Given the description of an element on the screen output the (x, y) to click on. 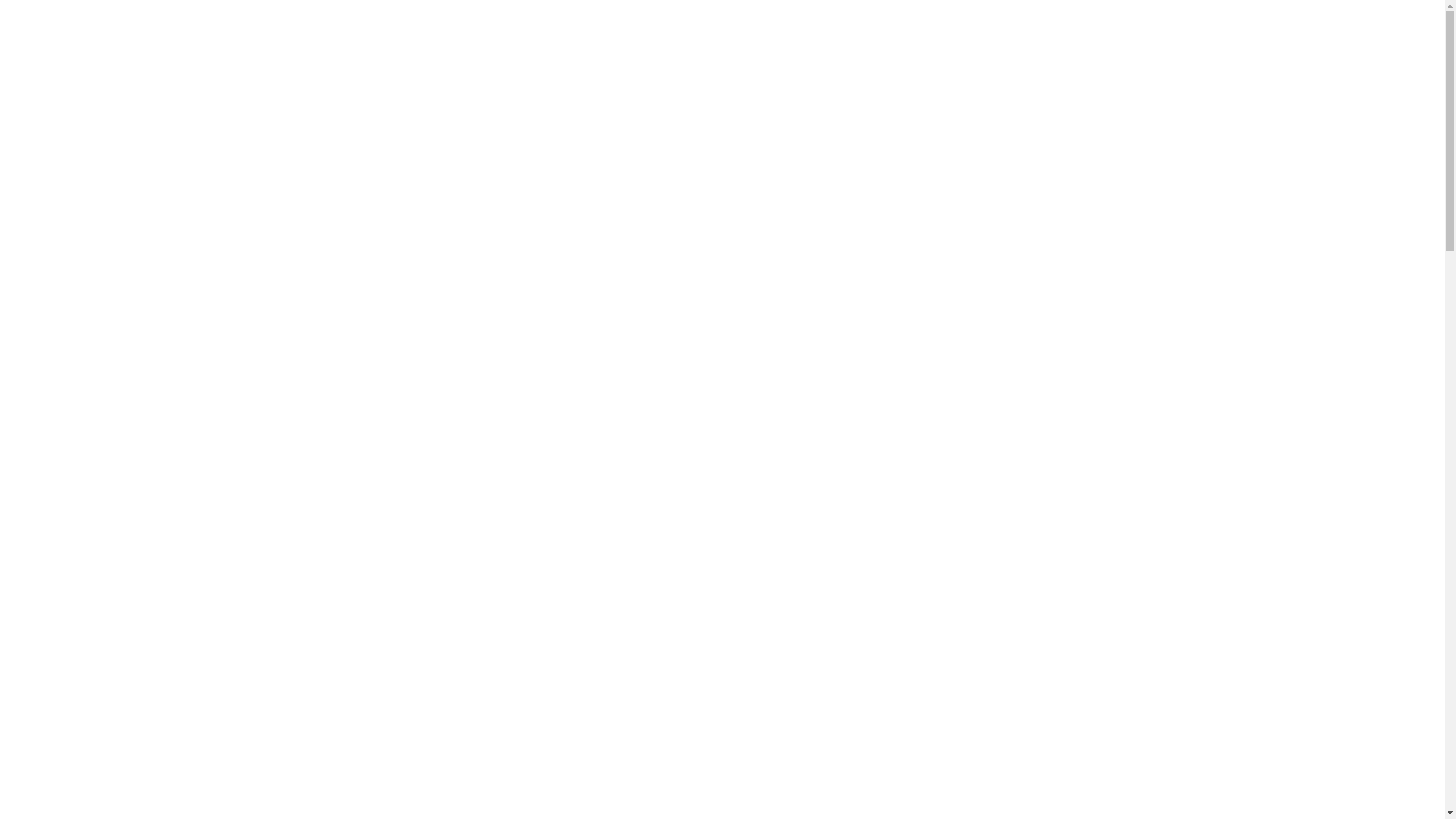
About Us Element type: text (55, 666)
Commercial Element type: text (49, 180)
Home Element type: text (31, 161)
Commercial Contracts Element type: text (94, 239)
Dispute Resolution Element type: text (70, 296)
Deceased Estate Claims Element type: text (101, 550)
Contact Us Element type: text (60, 686)
Employment Element type: text (65, 259)
Estate Planning Element type: text (74, 590)
Negligence Element type: text (61, 454)
About Element type: text (31, 647)
Employment Element type: text (65, 415)
08 9592 7326 Element type: text (53, 790)
Insolvency Element type: text (59, 434)
Power of Attorney Element type: text (80, 610)
Wills & Estates Element type: text (58, 511)
Commercial Litigation Element type: text (92, 356)
Breach of Contract Element type: text (84, 316)
Deceased Etates & Administration Element type: text (130, 570)
Partnership Disputes Element type: text (90, 474)
Defamation Element type: text (62, 395)
Contesting a Will Element type: text (78, 531)
Building & Construction Element type: text (98, 336)
Latest News Element type: text (64, 706)
Client Portal Login Element type: text (69, 743)
Debt Recovery Element type: text (72, 375)
Business Element type: text (54, 220)
Banking & Finance Element type: text (84, 200)
